Given the description of an element on the screen output the (x, y) to click on. 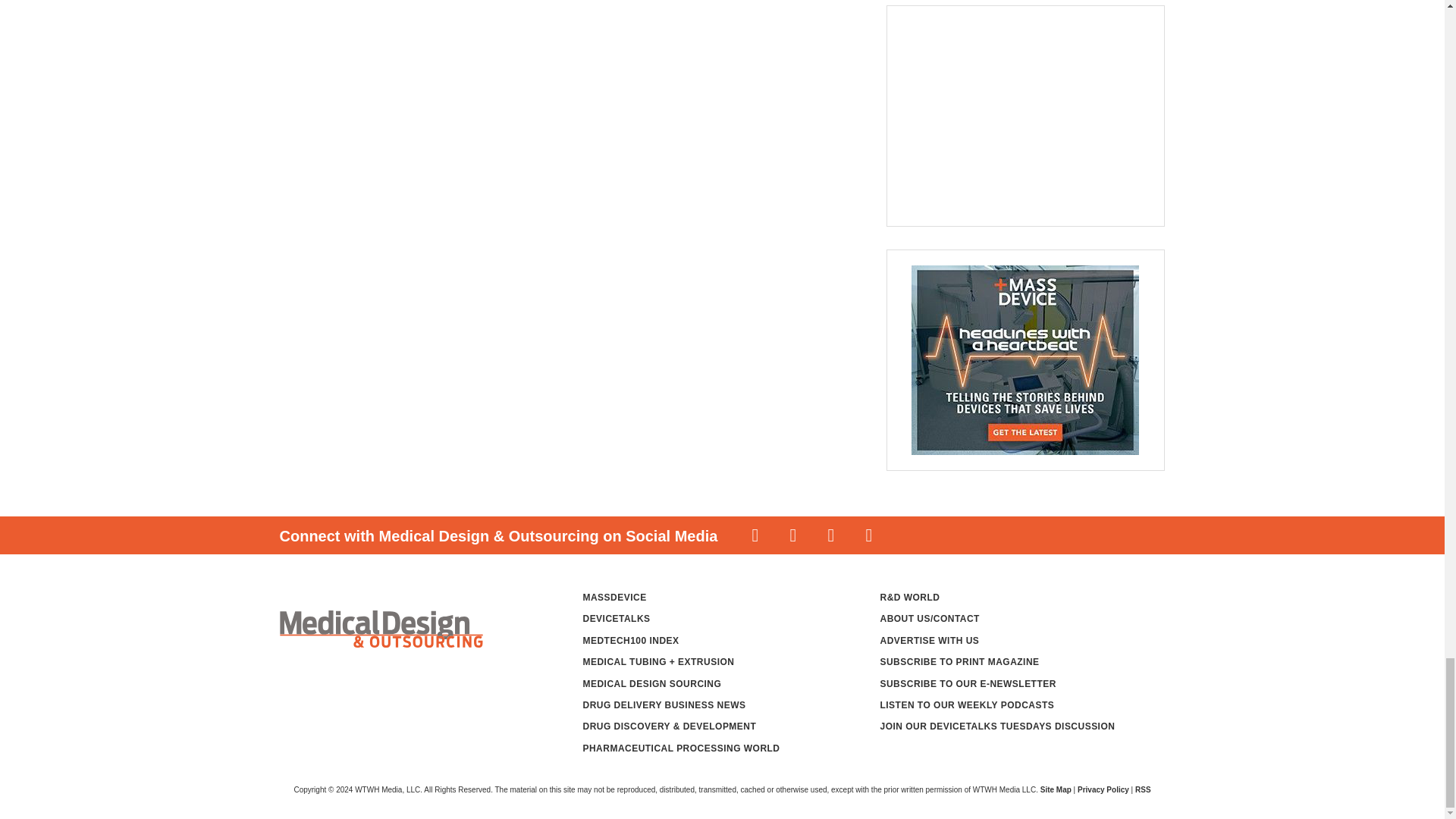
3rd party ad content (1015, 115)
